Given the description of an element on the screen output the (x, y) to click on. 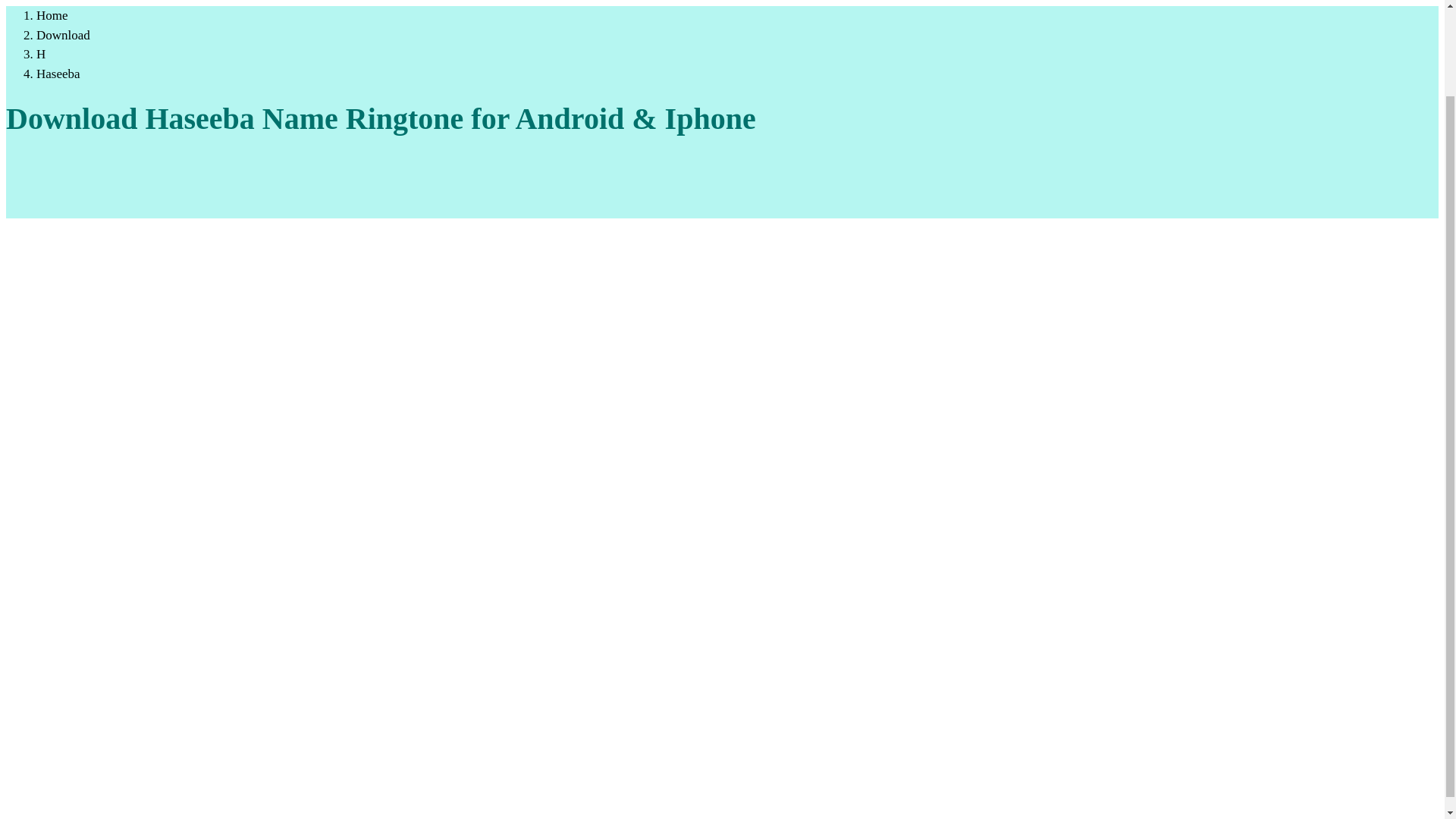
Home (52, 15)
Download (63, 34)
